Given the description of an element on the screen output the (x, y) to click on. 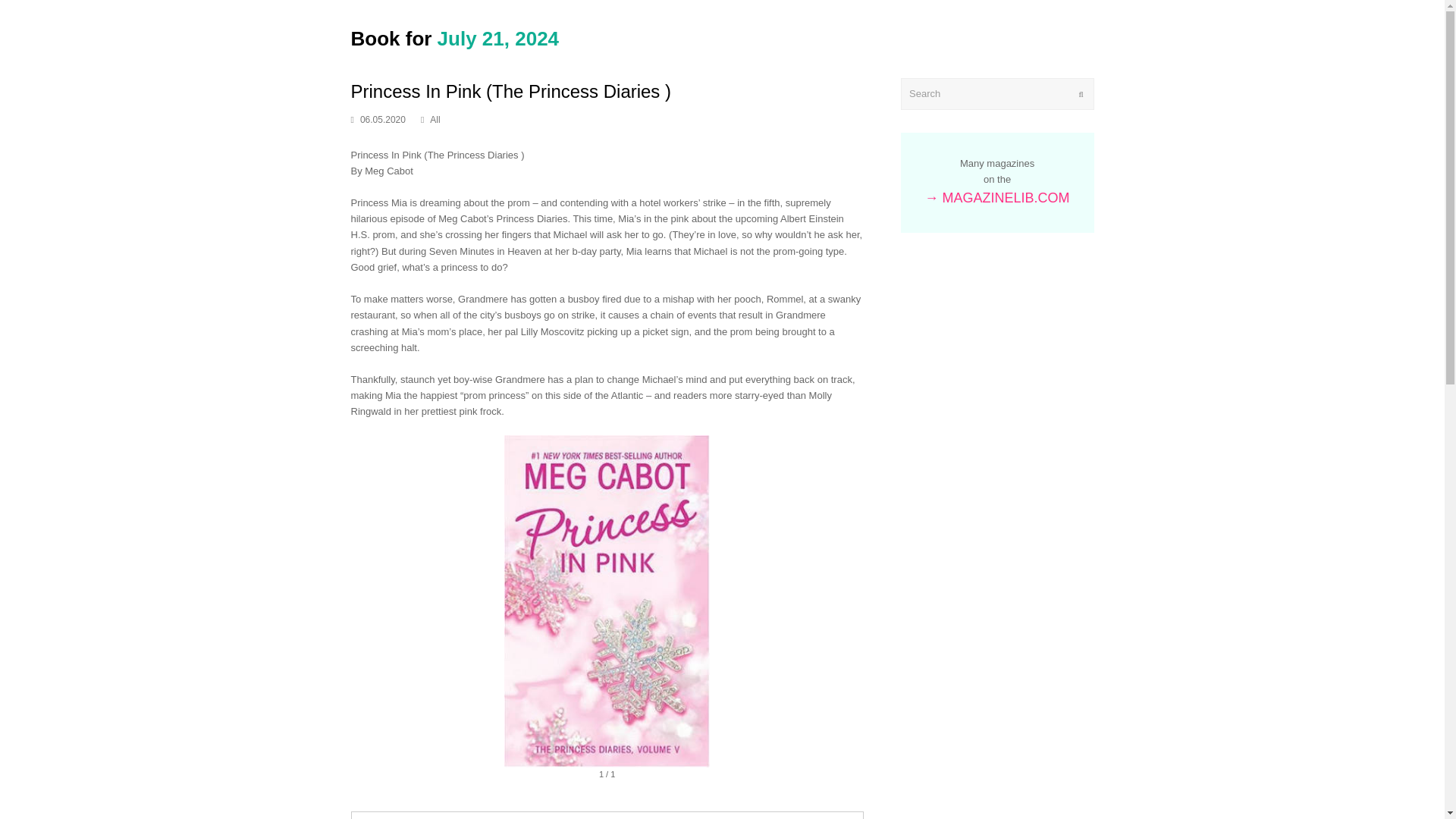
Book for July 21, 2024 (454, 38)
All (434, 119)
New books every day - PDF, FB2 download (454, 38)
